Given the description of an element on the screen output the (x, y) to click on. 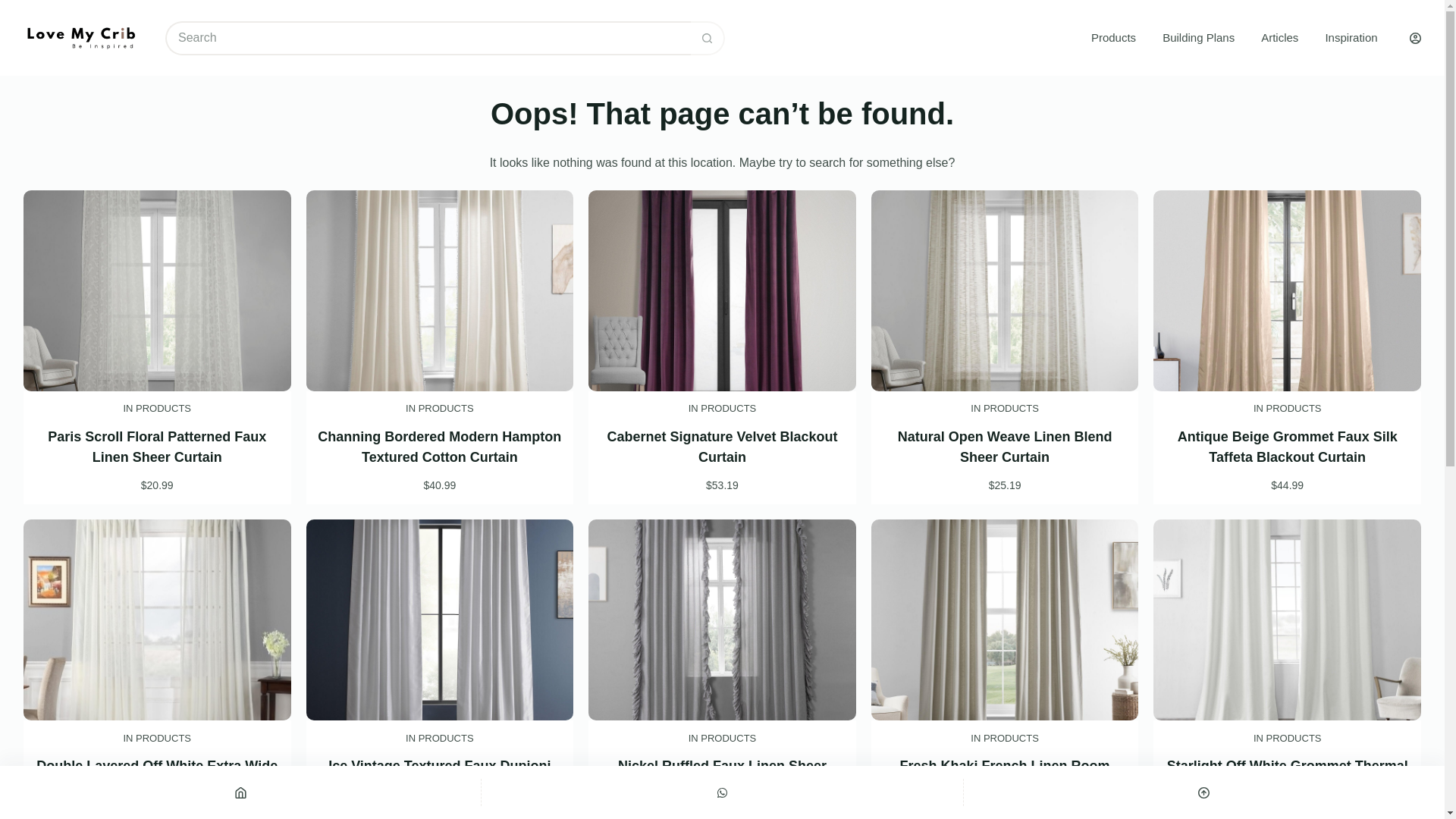
Paris Scroll Floral Patterned Faux Linen Sheer Curtain (157, 447)
Skip to content (15, 7)
Building Plans (1198, 38)
Search for... (427, 38)
Channing Bordered Modern Hampton Textured Cotton Curtain (438, 447)
Inspiration (1351, 38)
Cabernet Signature Velvet Blackout Curtain (722, 447)
